Given the description of an element on the screen output the (x, y) to click on. 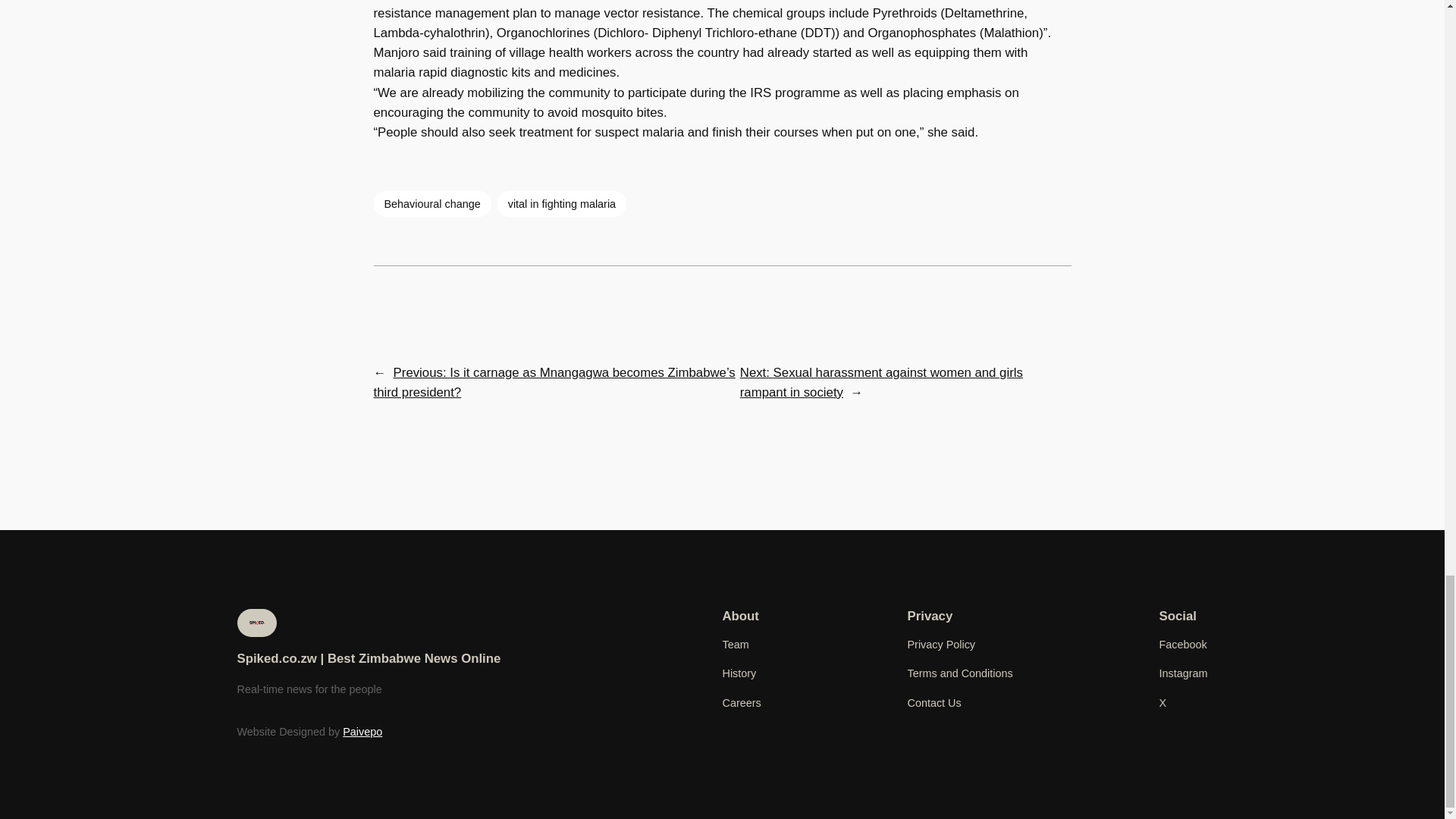
Careers (741, 702)
vital in fighting malaria (561, 203)
Instagram (1182, 673)
Contact Us (933, 702)
History (738, 673)
Behavioural change (431, 203)
Team (735, 644)
Privacy Policy (941, 644)
Paivepo (361, 731)
Facebook (1182, 644)
Terms and Conditions (959, 673)
